Given the description of an element on the screen output the (x, y) to click on. 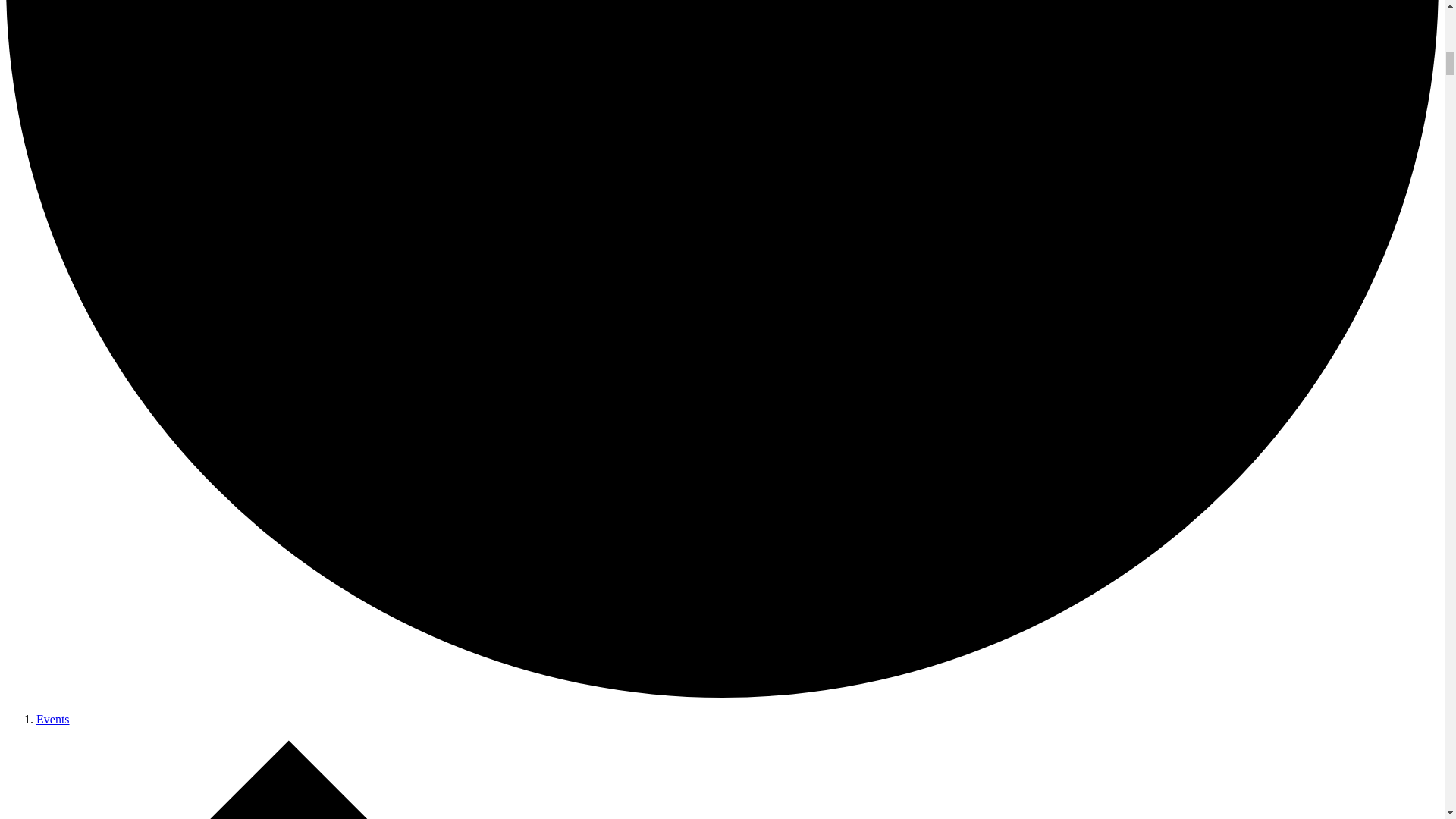
Events (52, 718)
